Given the description of an element on the screen output the (x, y) to click on. 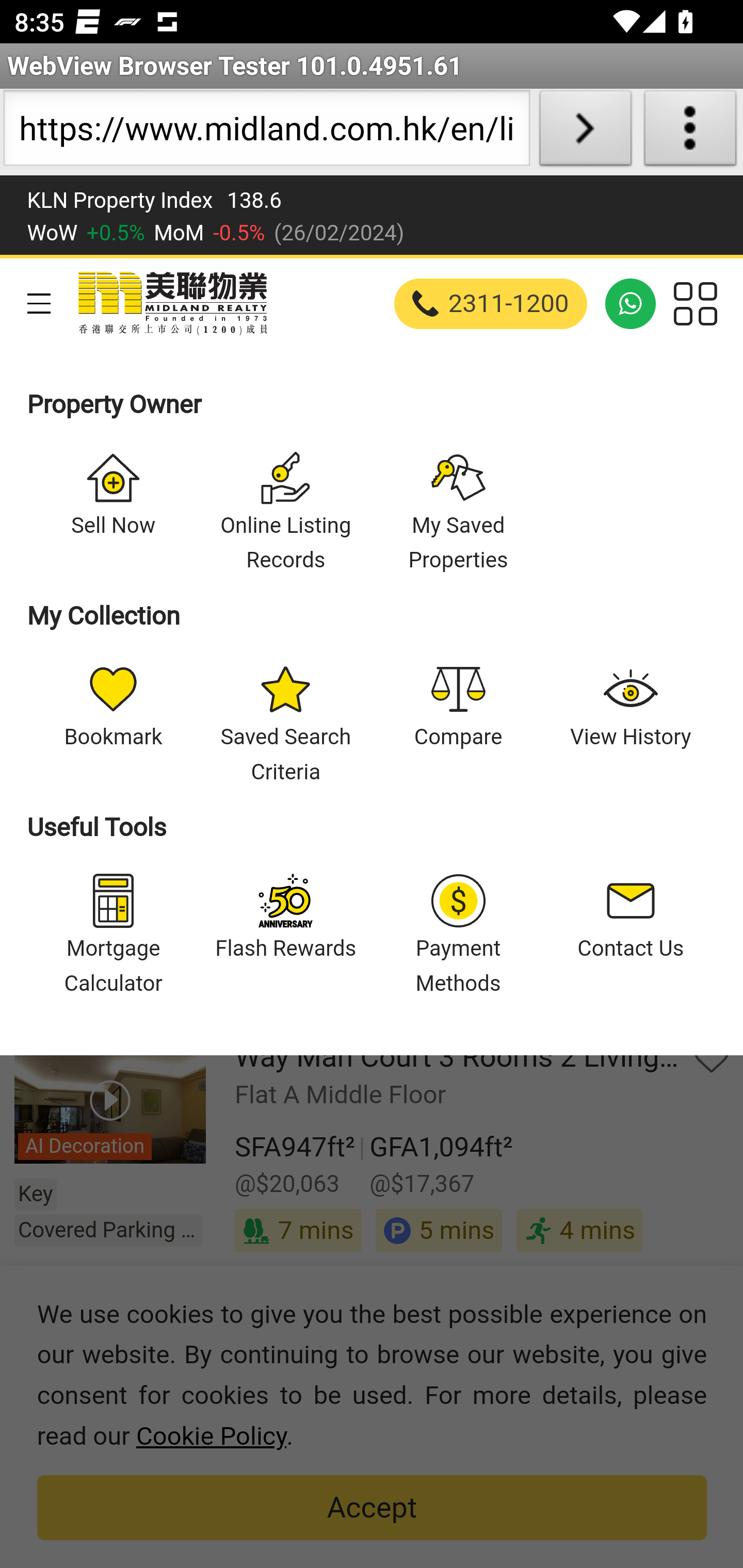
Load URL (585, 132)
About WebView (690, 132)
Midland Realty - Property Agency in Hong Kong (171, 303)
2311-1200 (490, 302)
WhatsApp: 2311-1200 (630, 302)
